Given the description of an element on the screen output the (x, y) to click on. 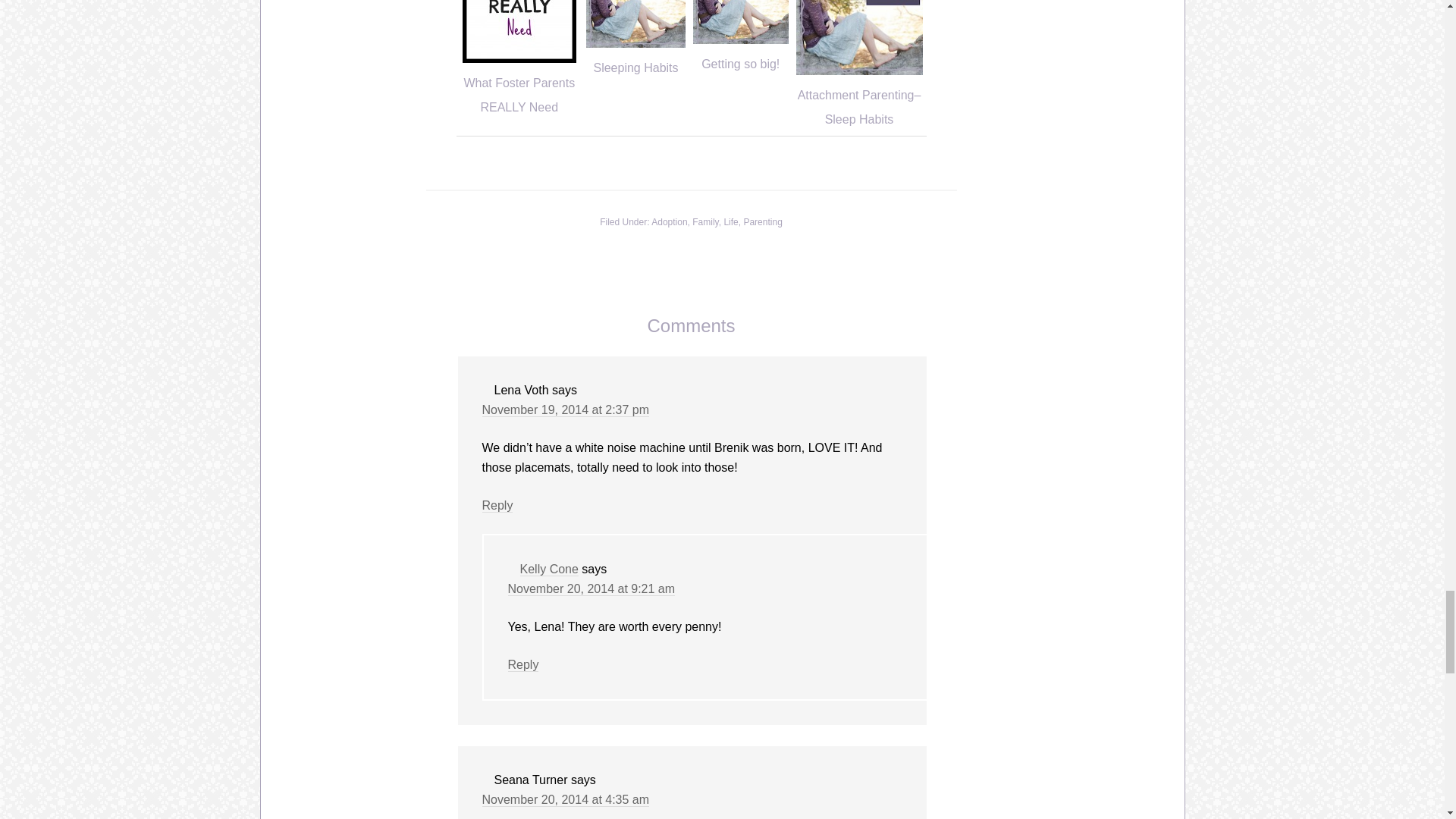
Sleeping Habits (635, 67)
Adoption (668, 222)
Reply (523, 664)
Getting so big! (739, 63)
What Foster Parents REALLY Need (519, 94)
Family (705, 222)
Reply (497, 505)
Parenting (761, 222)
Life (730, 222)
November 19, 2014 at 2:37 pm (565, 409)
